Given the description of an element on the screen output the (x, y) to click on. 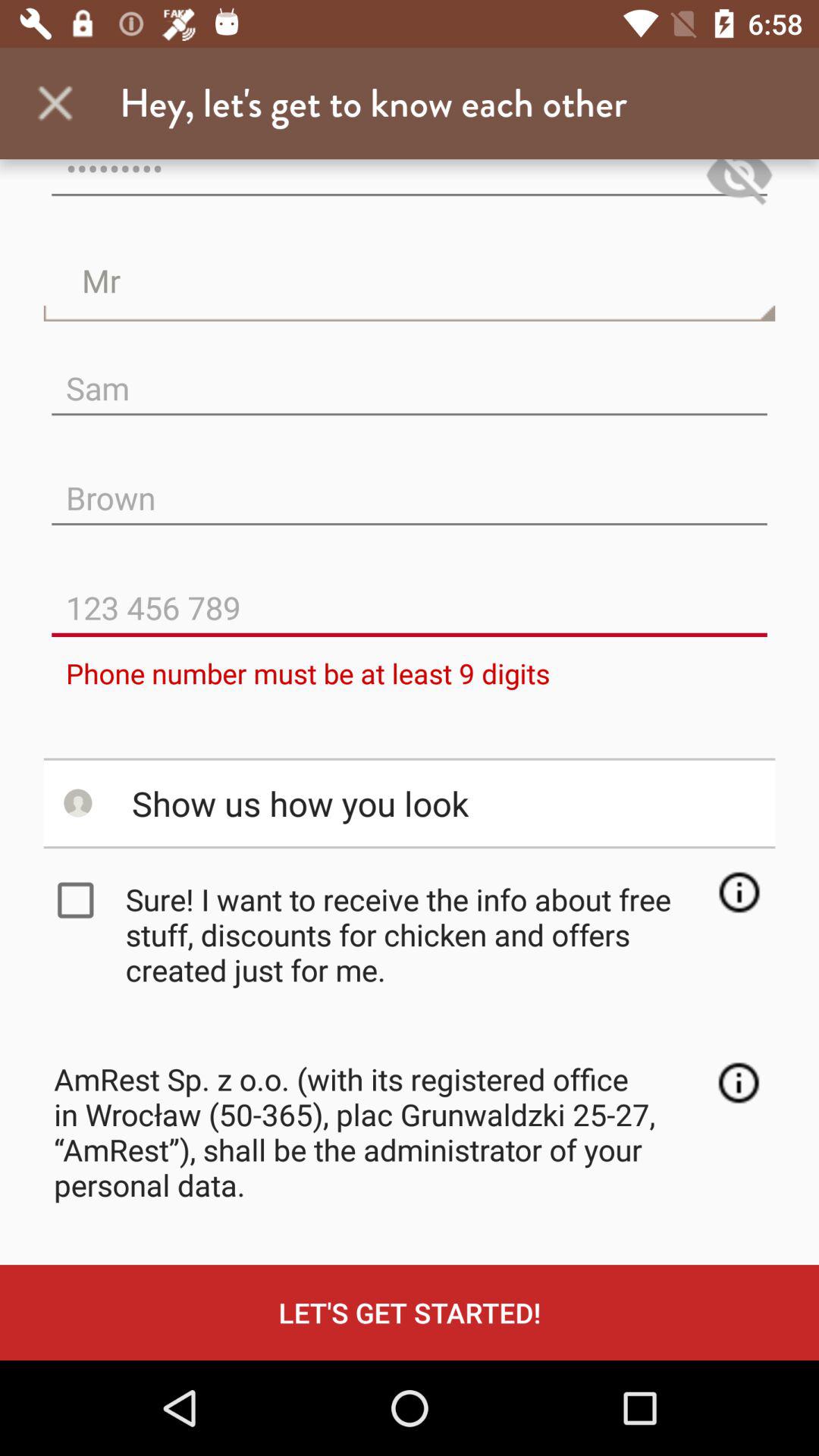
open the item to the right of the amrest sp z (738, 1082)
